Given the description of an element on the screen output the (x, y) to click on. 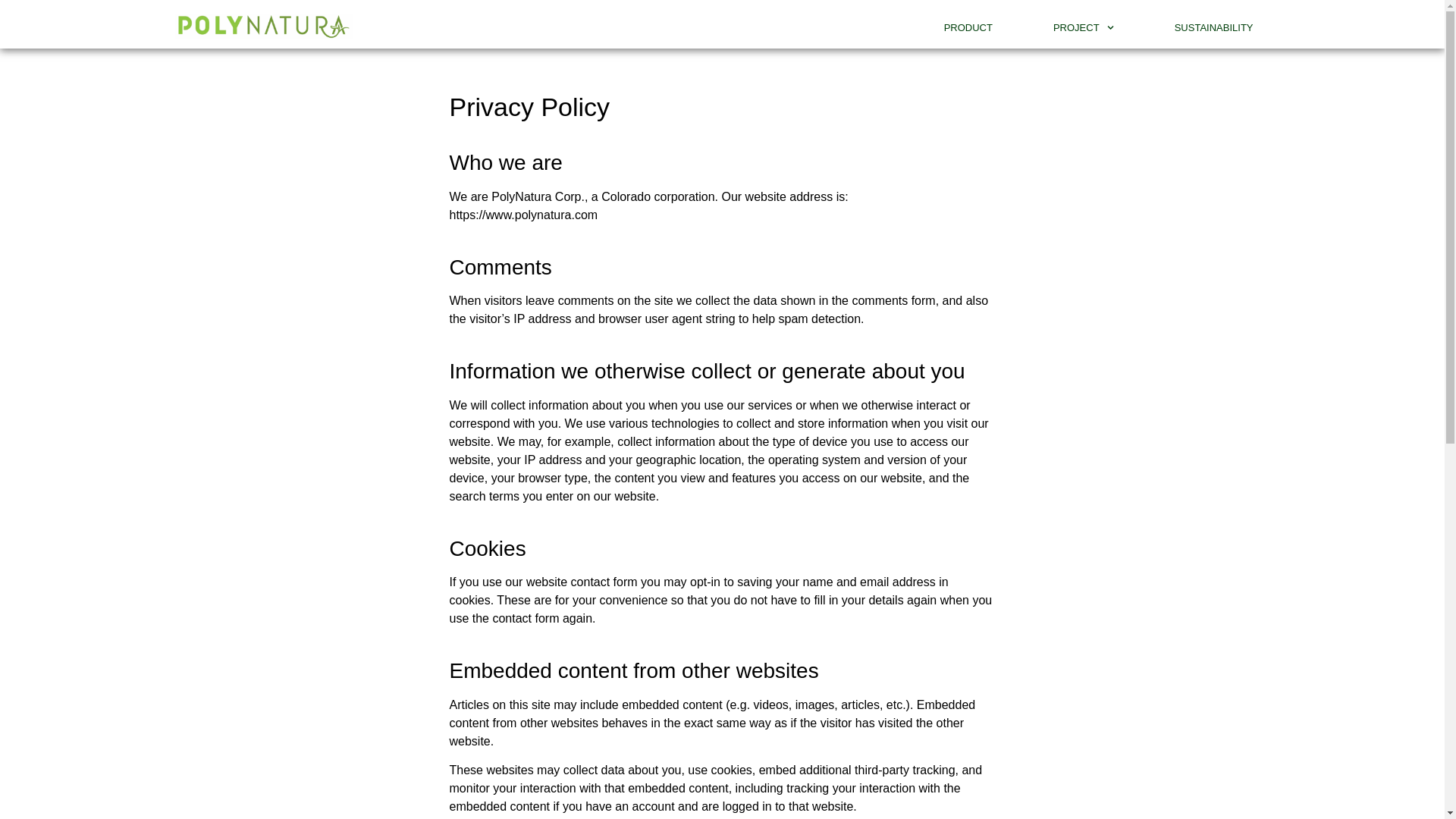
SUSTAINABILITY (1213, 28)
PROJECT (1083, 28)
PRODUCT (967, 28)
